Given the description of an element on the screen output the (x, y) to click on. 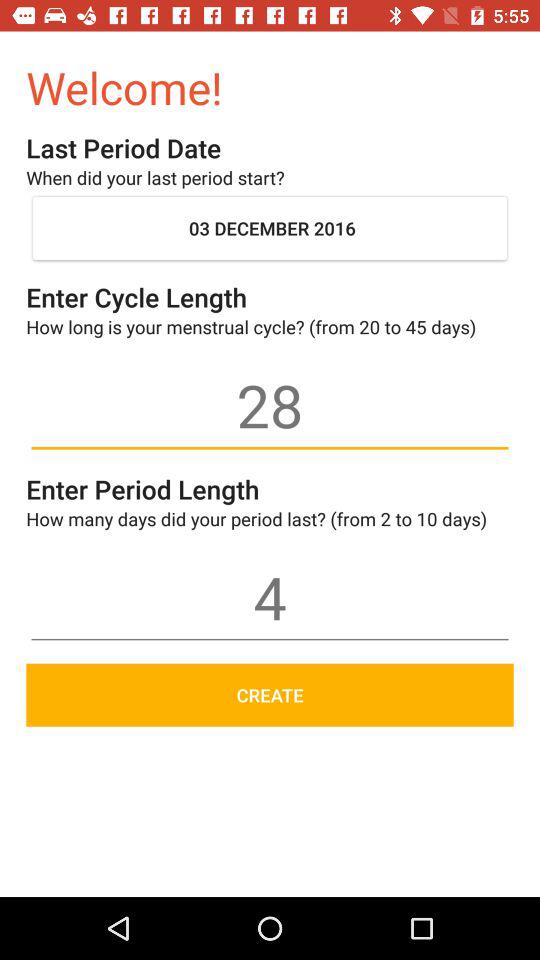
jump to 03 december 2016 item (270, 227)
